Given the description of an element on the screen output the (x, y) to click on. 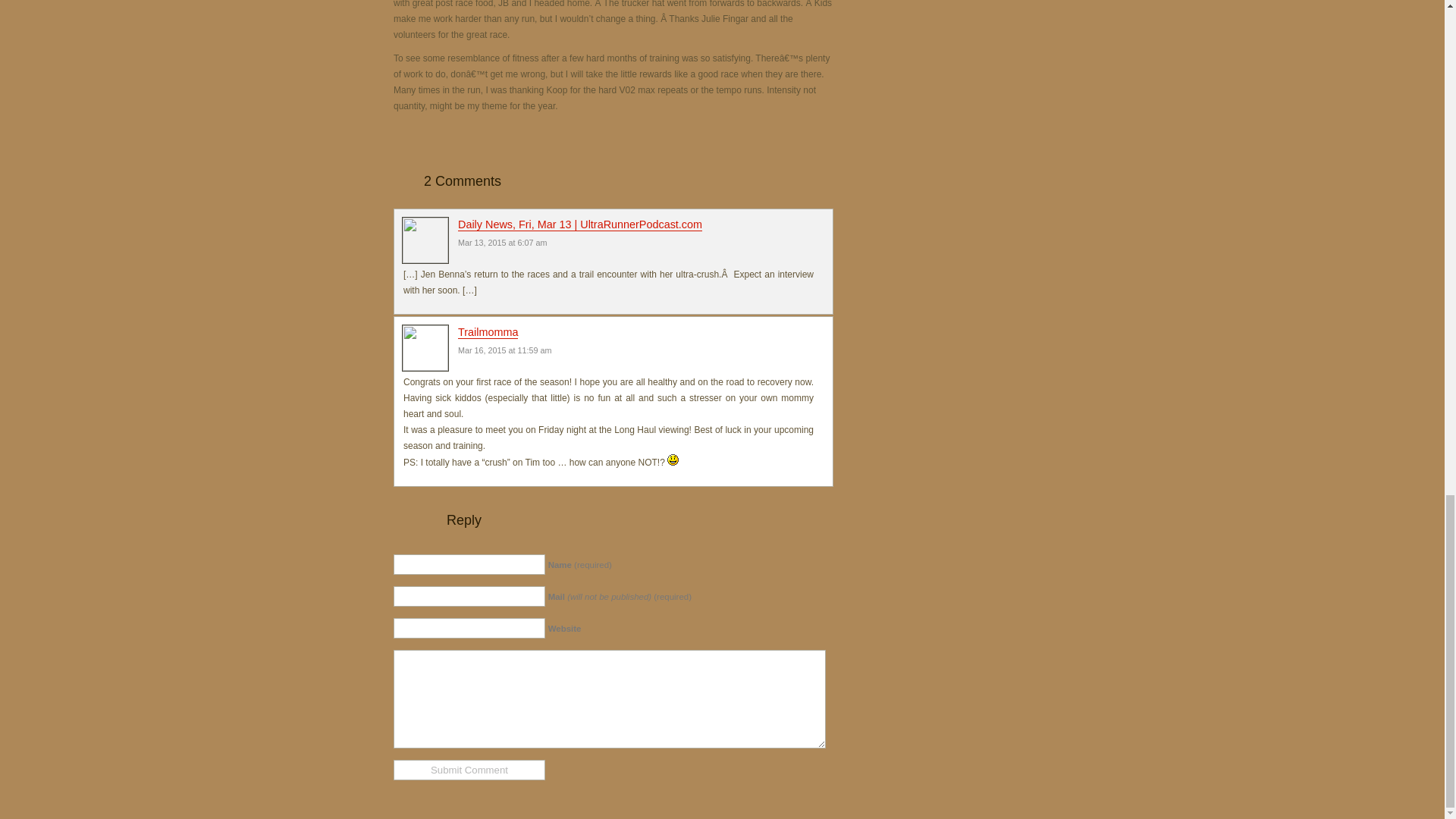
Submit Comment (468, 770)
Trailmomma (488, 332)
Submit Comment (468, 770)
